Given the description of an element on the screen output the (x, y) to click on. 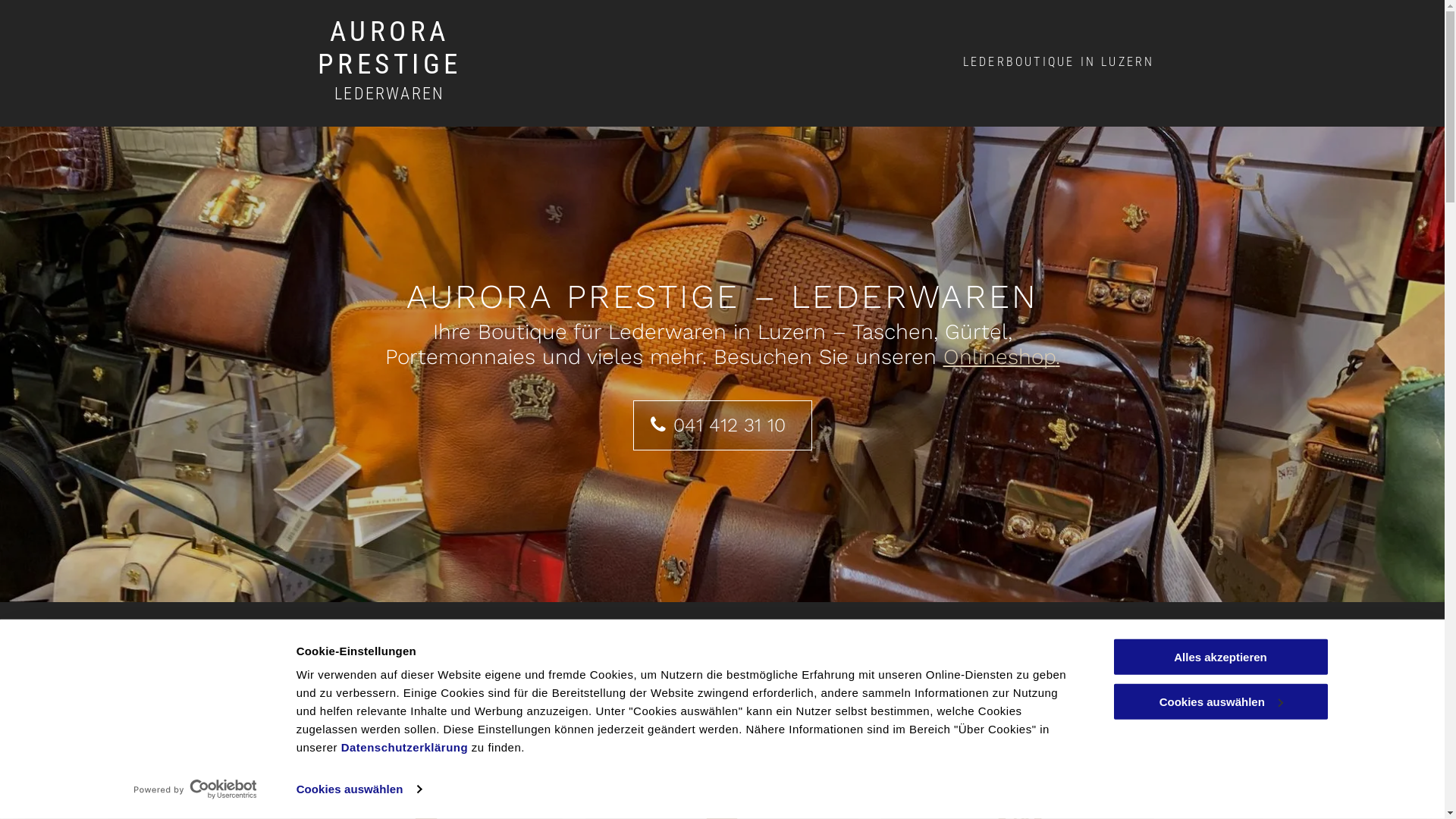
ONLINESHOP Element type: text (722, 655)
Onlineshop Element type: text (999, 356)
Alles akzeptieren Element type: text (1219, 656)
041 412 31 10 Element type: text (721, 425)
AURORA PRESTIGE Element type: text (389, 47)
